Given the description of an element on the screen output the (x, y) to click on. 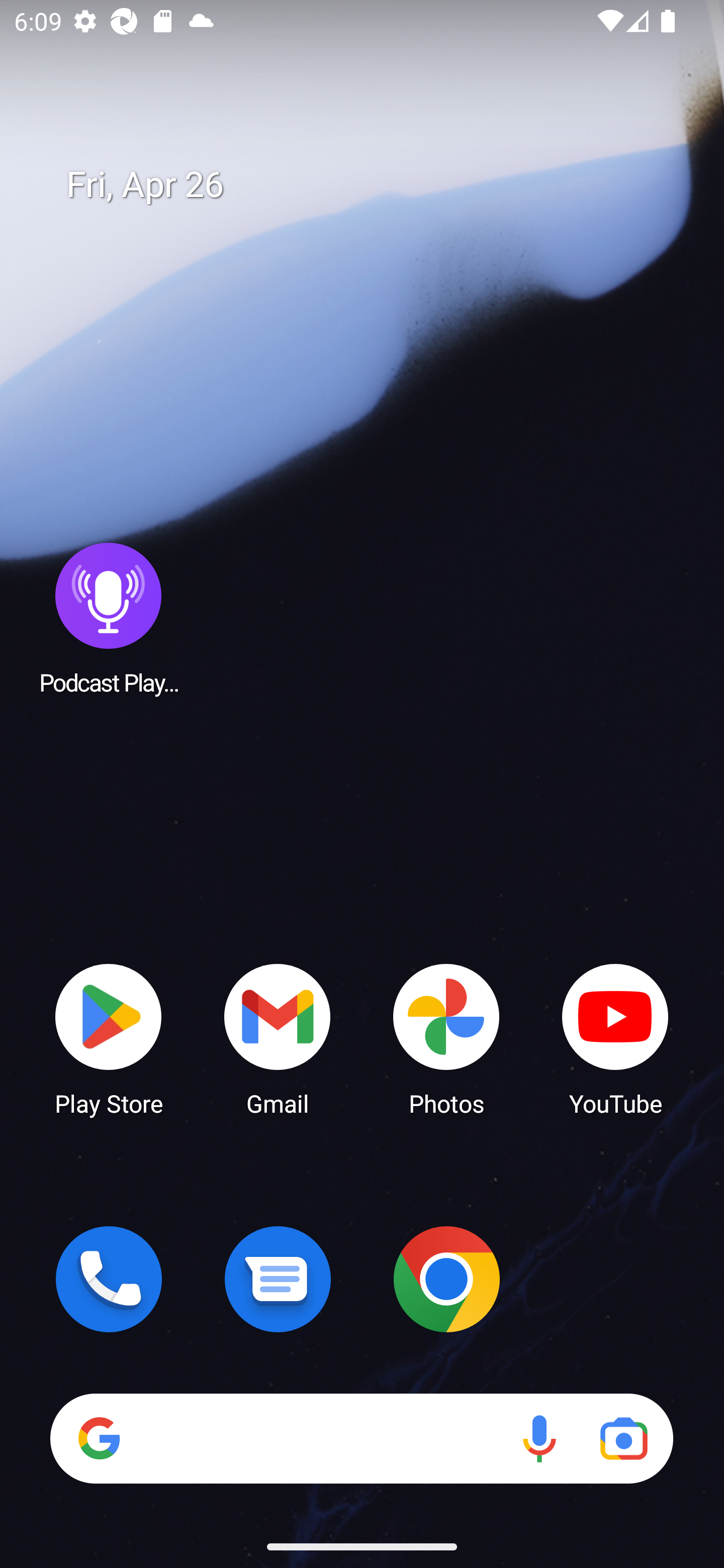
Fri, Apr 26 (375, 184)
Podcast Player (108, 617)
Play Store (108, 1038)
Gmail (277, 1038)
Photos (445, 1038)
YouTube (615, 1038)
Phone (108, 1279)
Messages (277, 1279)
Chrome (446, 1279)
Search Voice search Google Lens (361, 1438)
Voice search (539, 1438)
Google Lens (623, 1438)
